Given the description of an element on the screen output the (x, y) to click on. 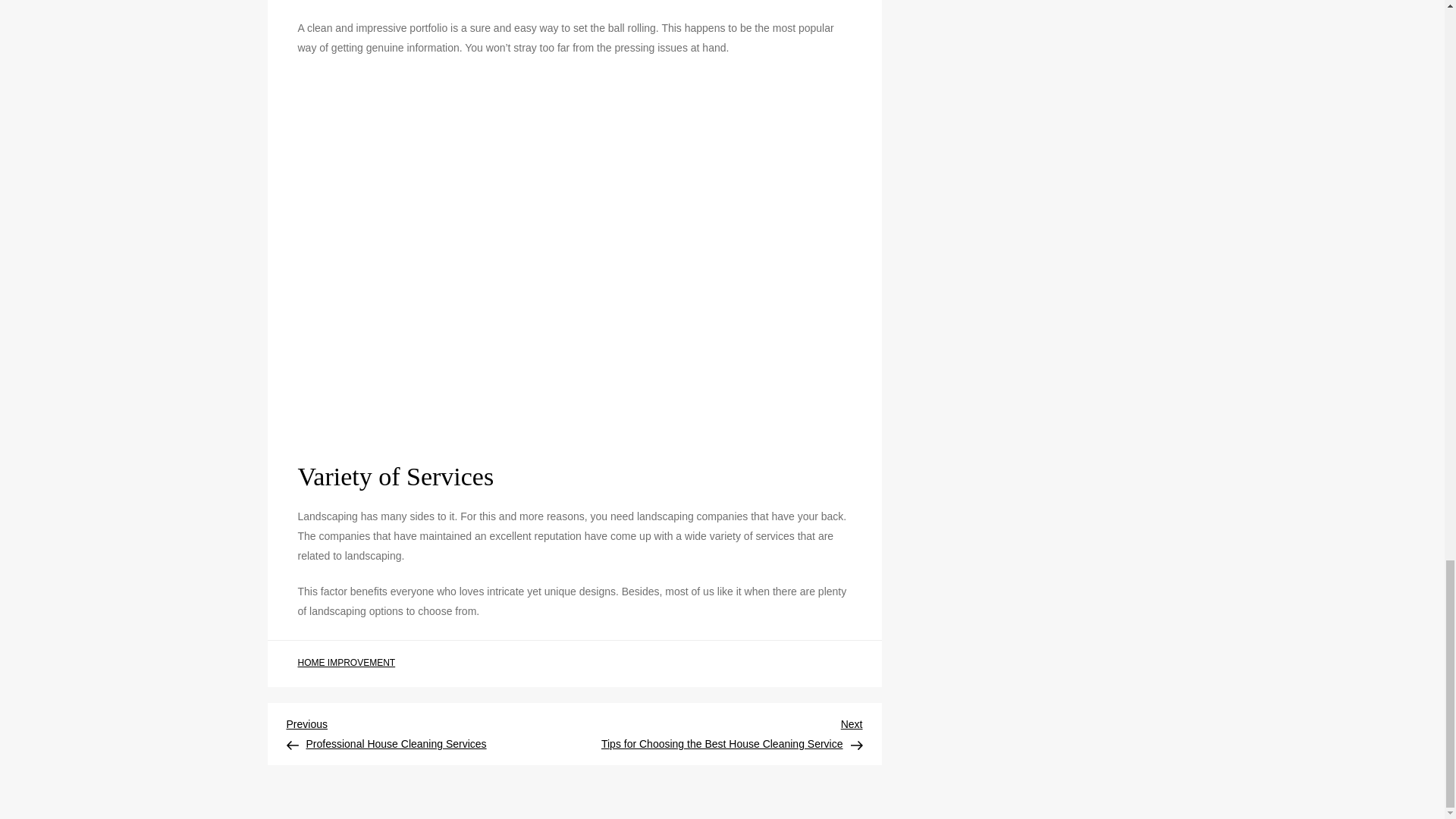
HOME IMPROVEMENT (345, 663)
